Given the description of an element on the screen output the (x, y) to click on. 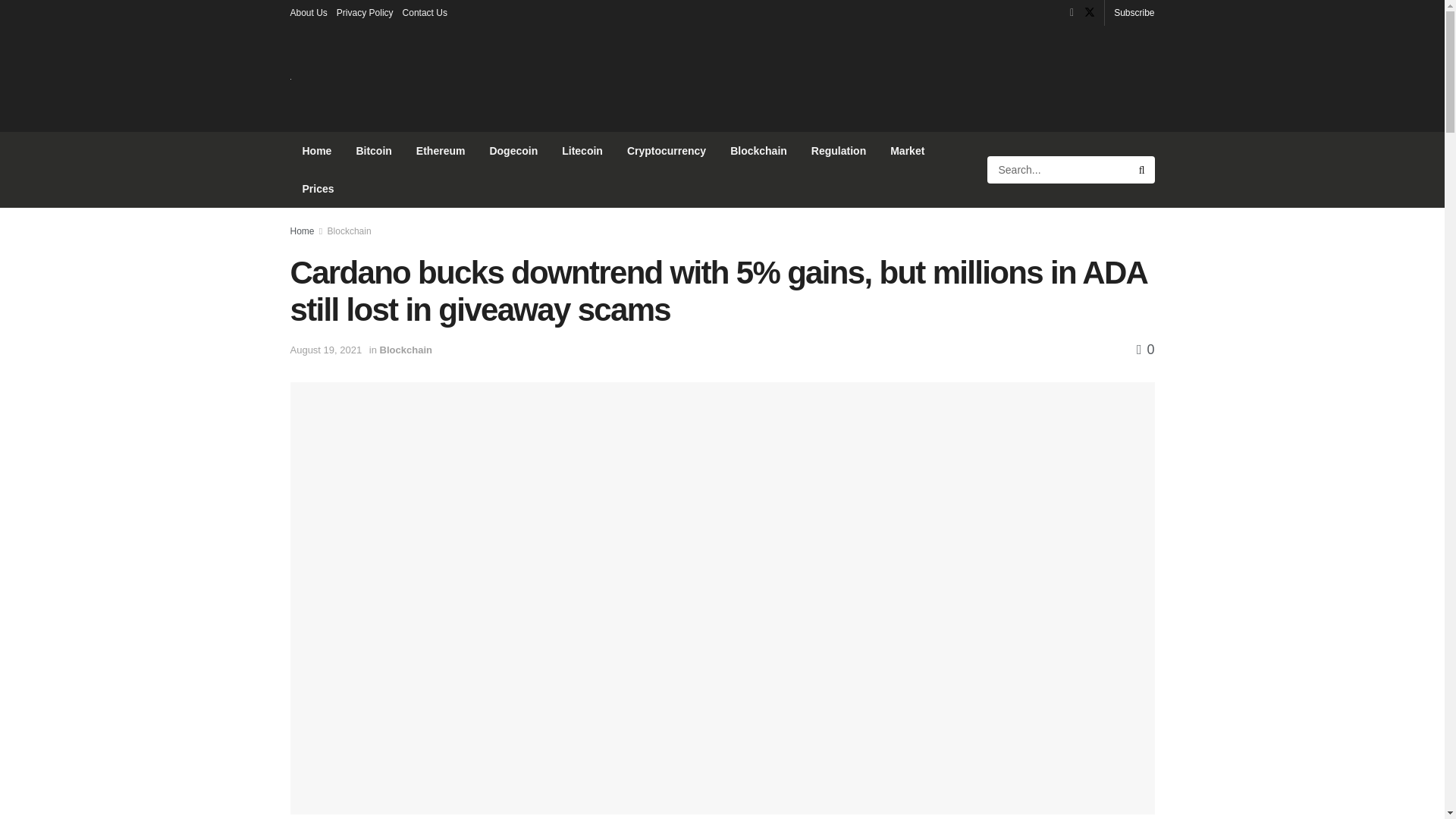
Blockchain (406, 349)
August 19, 2021 (325, 349)
Home (316, 150)
Blockchain (758, 150)
Prices (317, 188)
Market (906, 150)
Privacy Policy (364, 12)
Bitcoin (373, 150)
Regulation (838, 150)
Contact Us (424, 12)
